Given the description of an element on the screen output the (x, y) to click on. 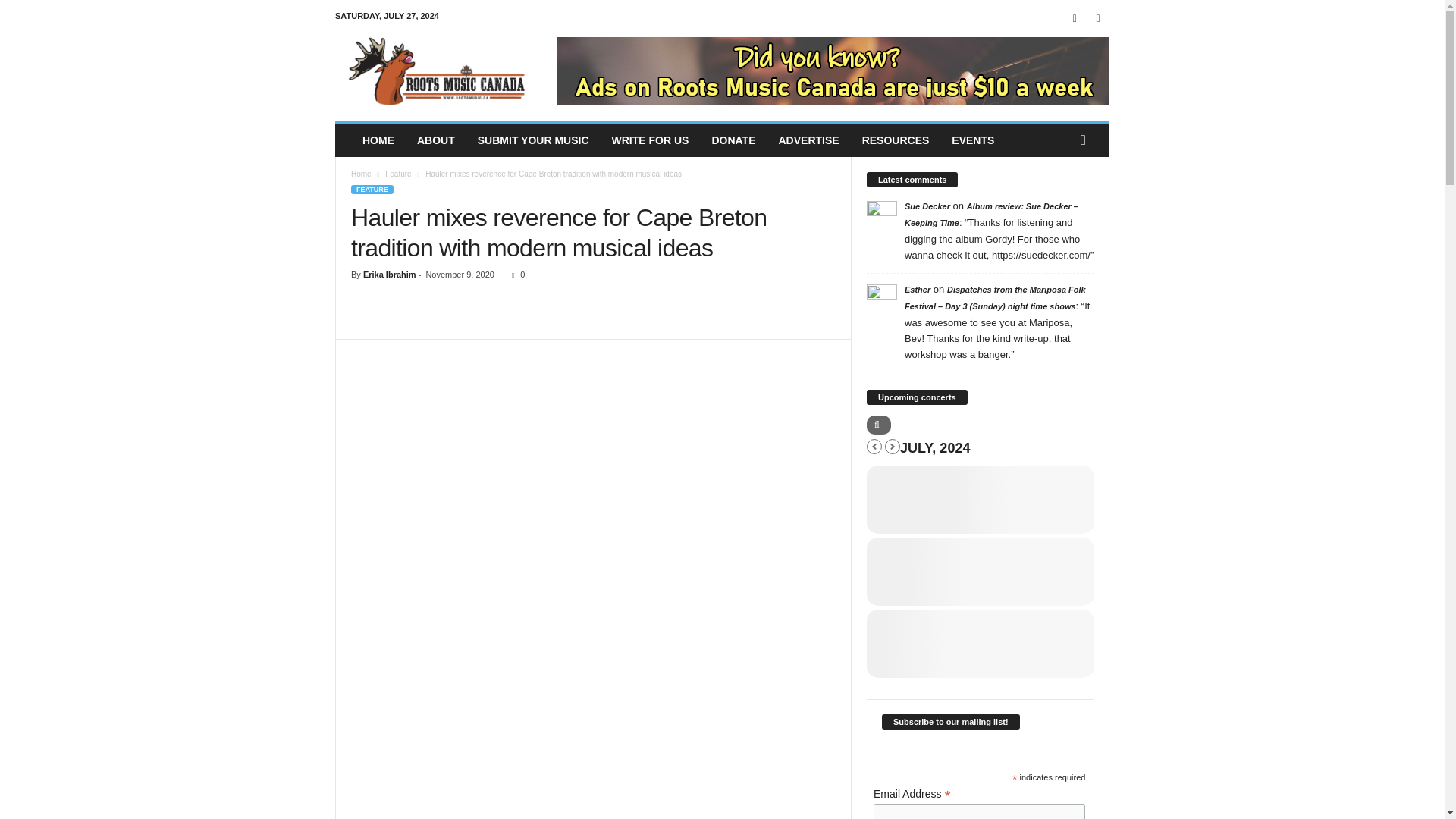
About (435, 140)
HOME (378, 140)
Submissions (532, 140)
Donate to Roots Music Canada (733, 140)
Instagram (1097, 18)
Roots Music Canada (437, 70)
Facebook (1074, 18)
View all posts in Feature (397, 173)
